Given the description of an element on the screen output the (x, y) to click on. 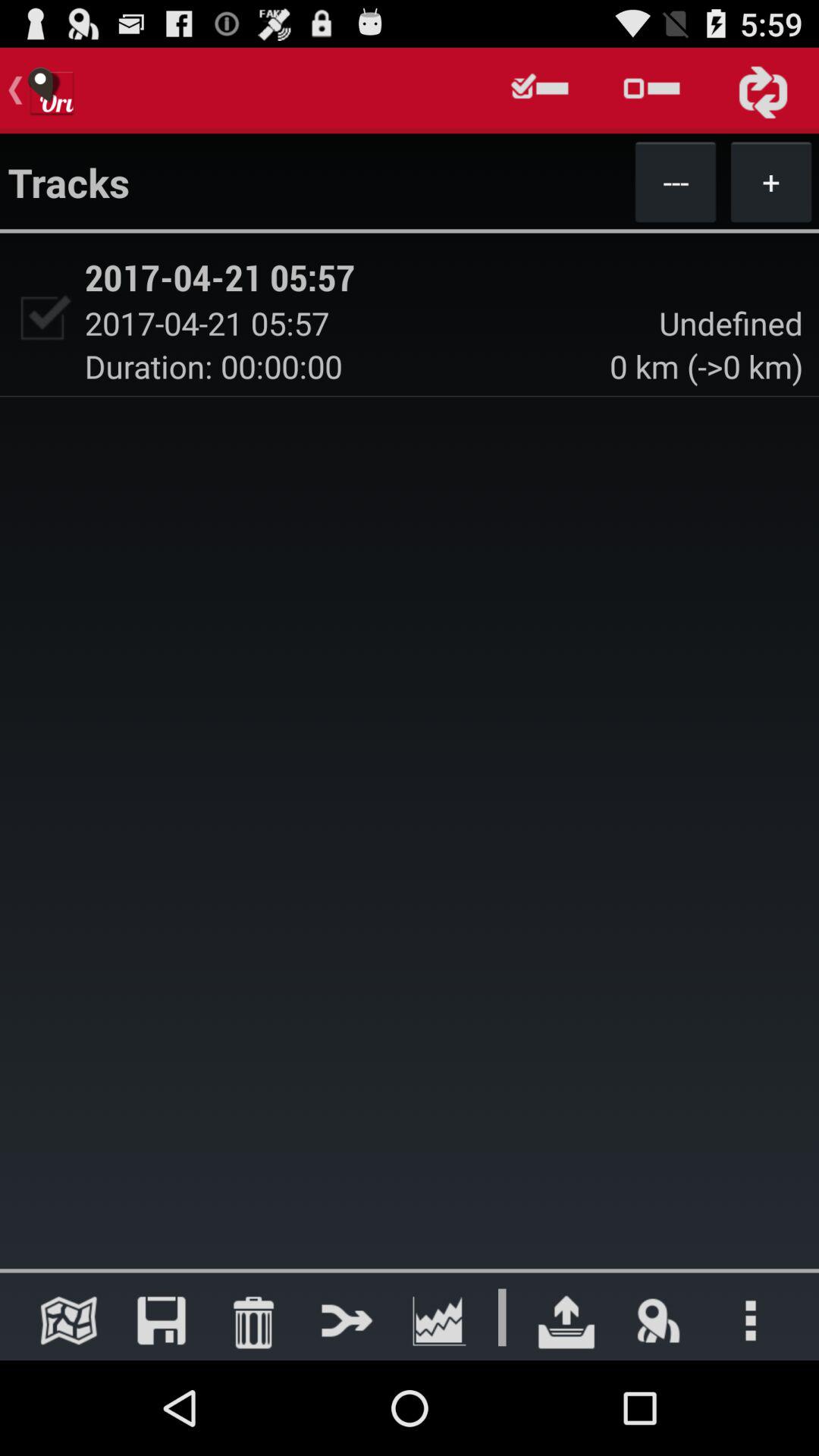
upload file (566, 1320)
